Given the description of an element on the screen output the (x, y) to click on. 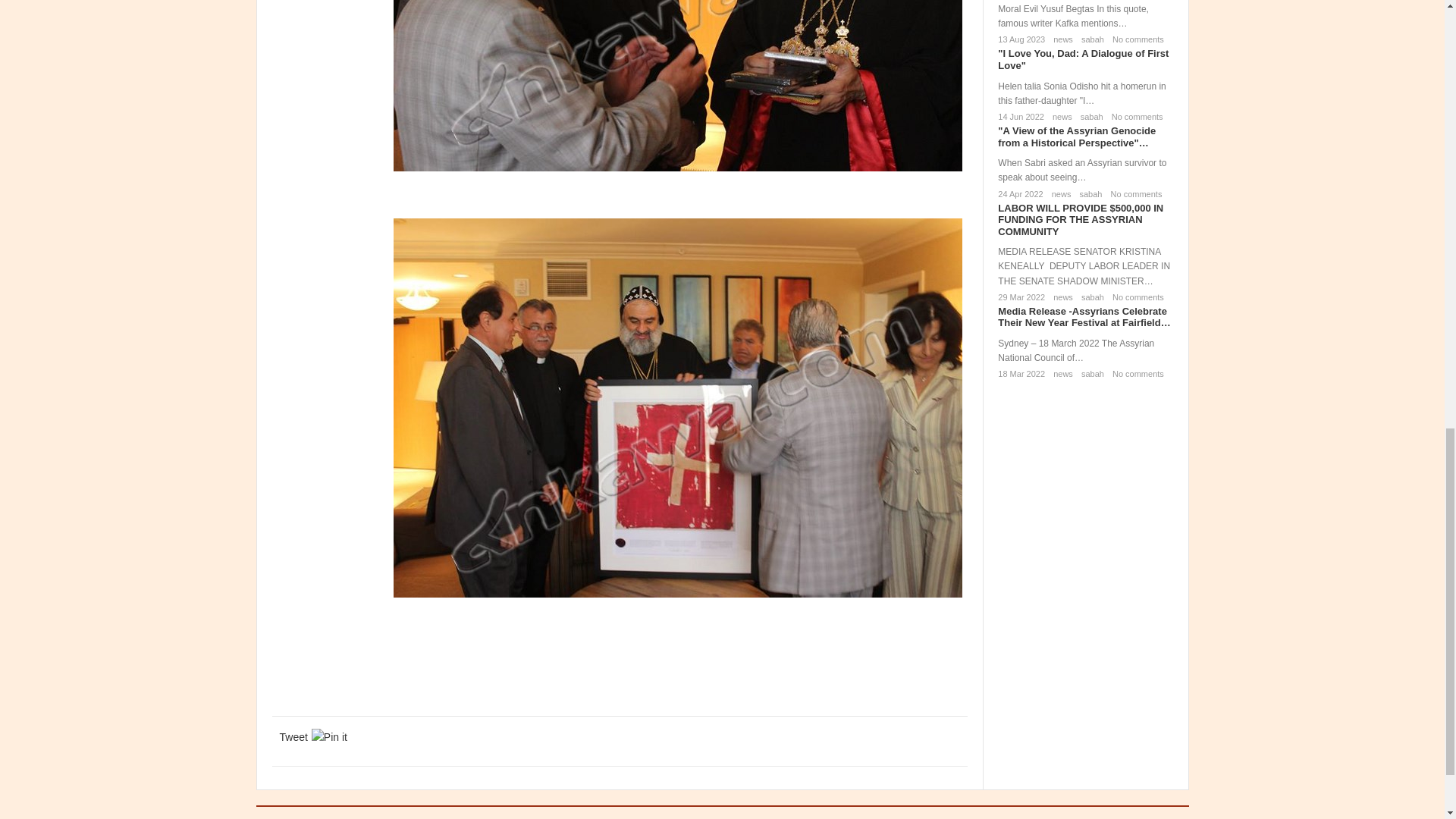
Tweet (293, 736)
Pin it (329, 736)
